Given the description of an element on the screen output the (x, y) to click on. 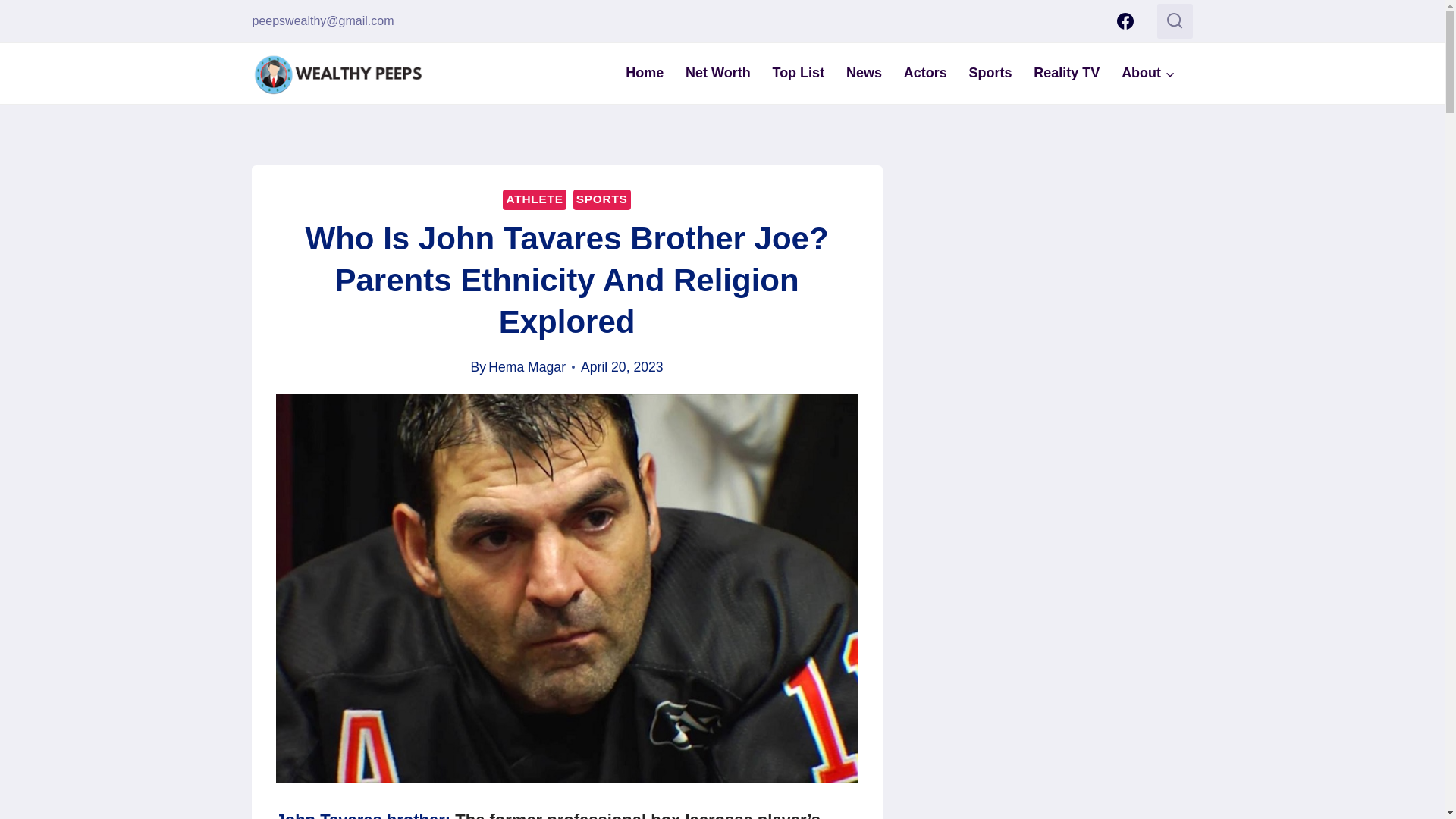
Sports (990, 72)
ATHLETE (534, 199)
Net Worth (718, 72)
Top List (797, 72)
Hema Magar (526, 366)
Home (644, 72)
About (1148, 72)
SPORTS (601, 199)
News (864, 72)
Reality TV (1066, 72)
